Given the description of an element on the screen output the (x, y) to click on. 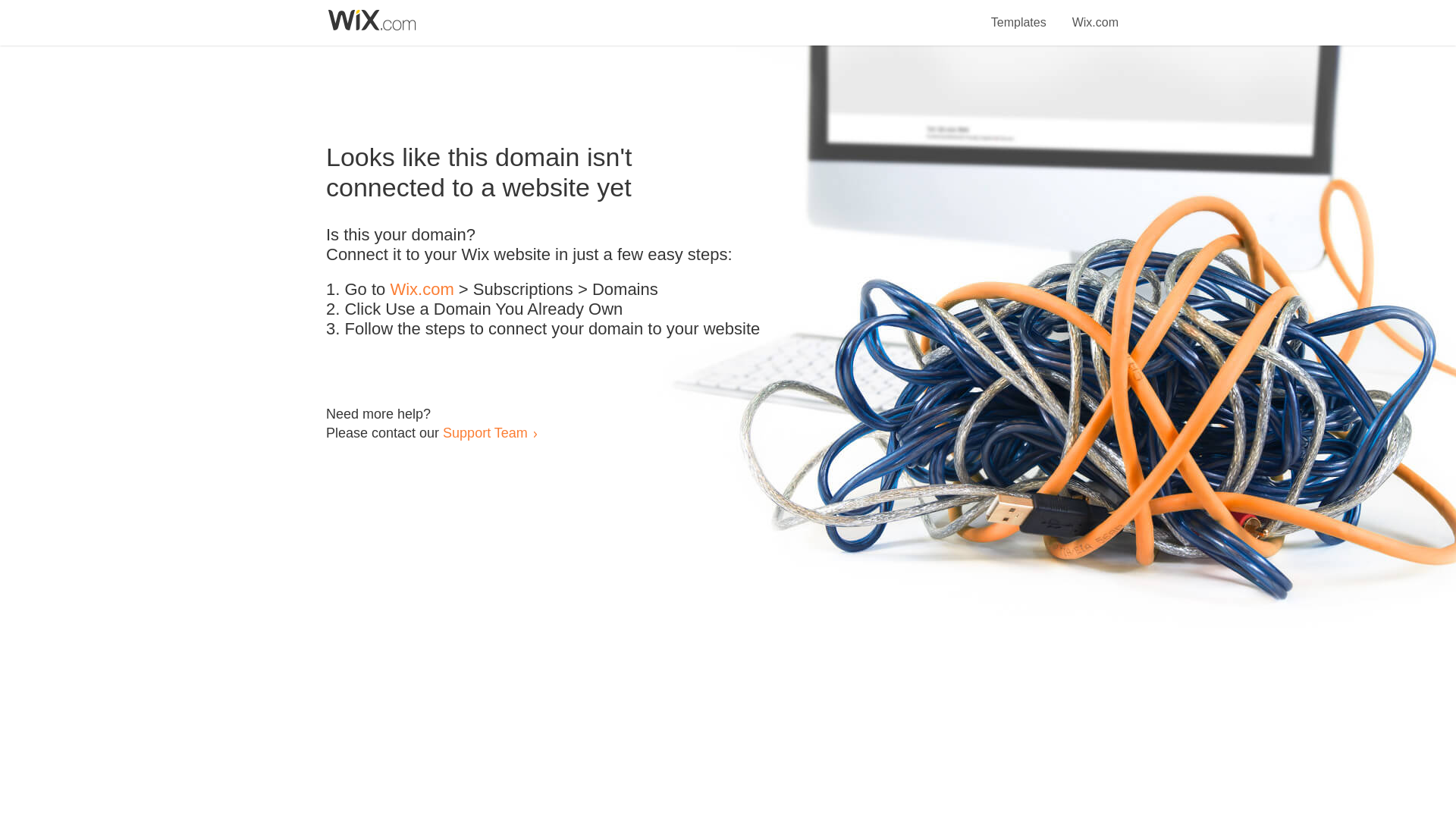
Templates (1018, 14)
Wix.com (421, 289)
Wix.com (1095, 14)
Support Team (484, 432)
